Given the description of an element on the screen output the (x, y) to click on. 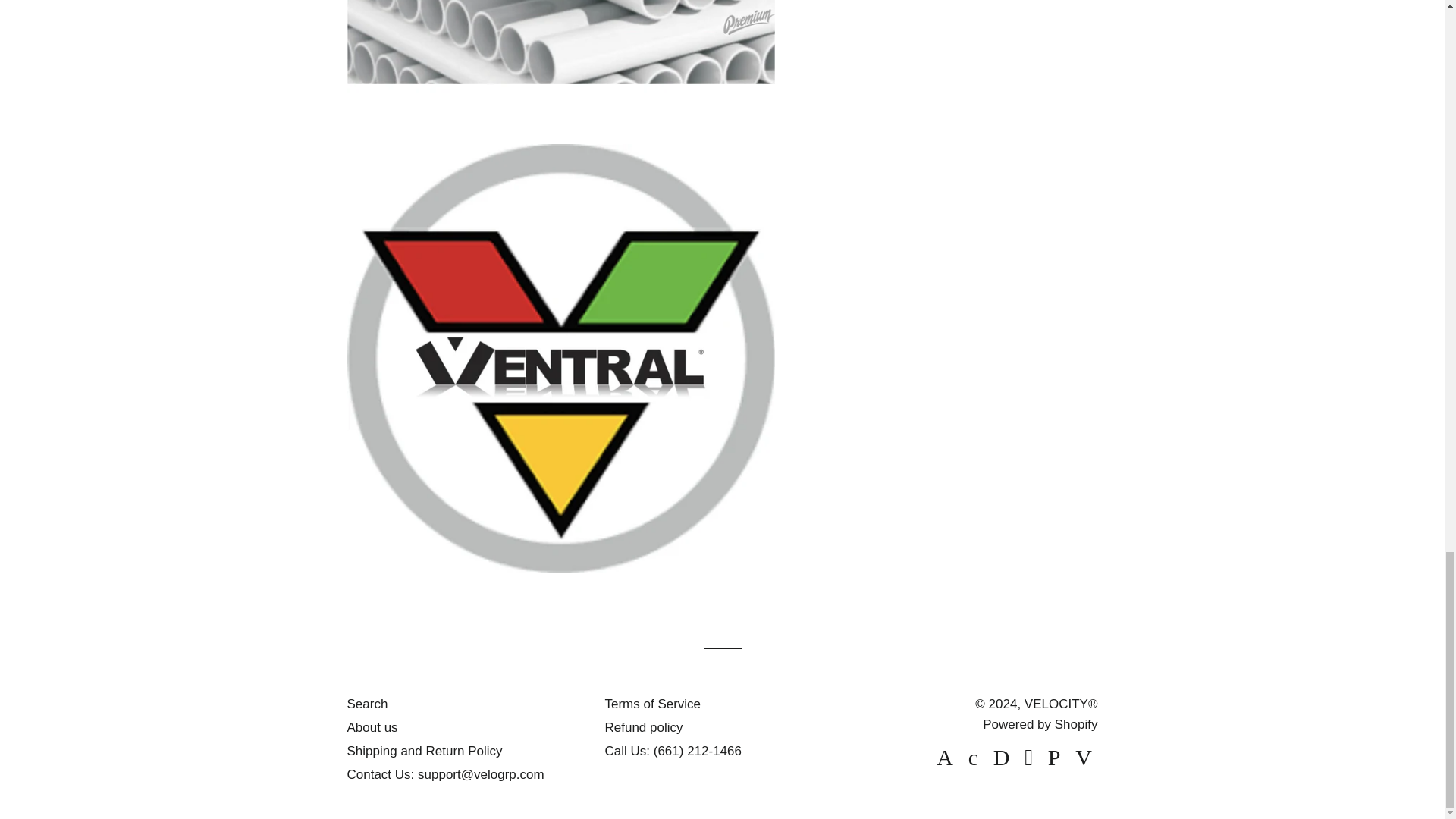
Powered by Shopify (1039, 724)
Shipping and Return Policy (424, 750)
Refund policy (643, 727)
Terms of Service (652, 703)
About us (372, 727)
Search (367, 703)
